Given the description of an element on the screen output the (x, y) to click on. 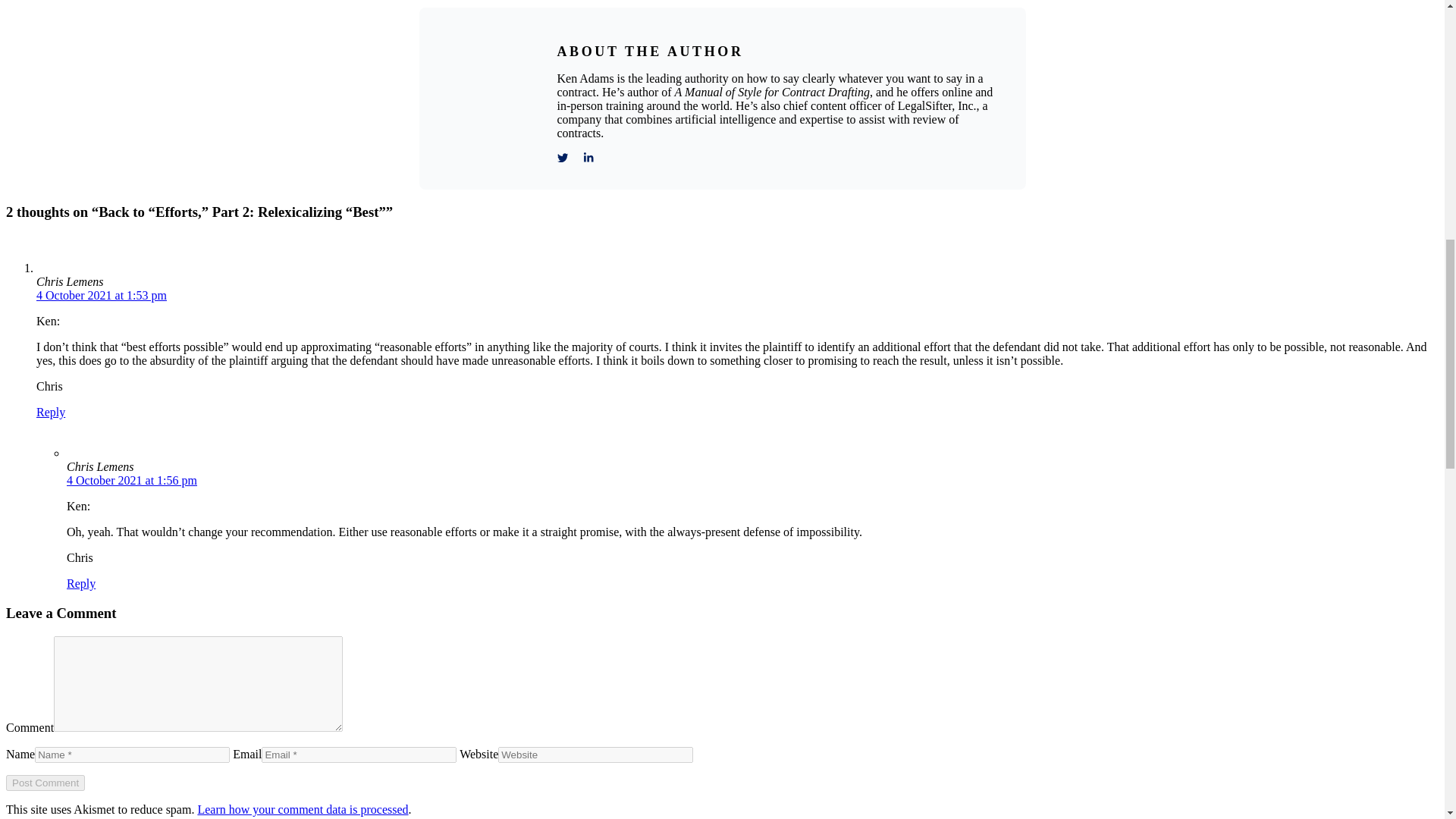
Post Comment (44, 782)
Reply (81, 583)
Learn how your comment data is processed (301, 809)
Reply (50, 411)
4 October 2021 at 1:53 pm (101, 295)
4 October 2021 at 1:56 pm (131, 480)
Post Comment (44, 782)
